Given the description of an element on the screen output the (x, y) to click on. 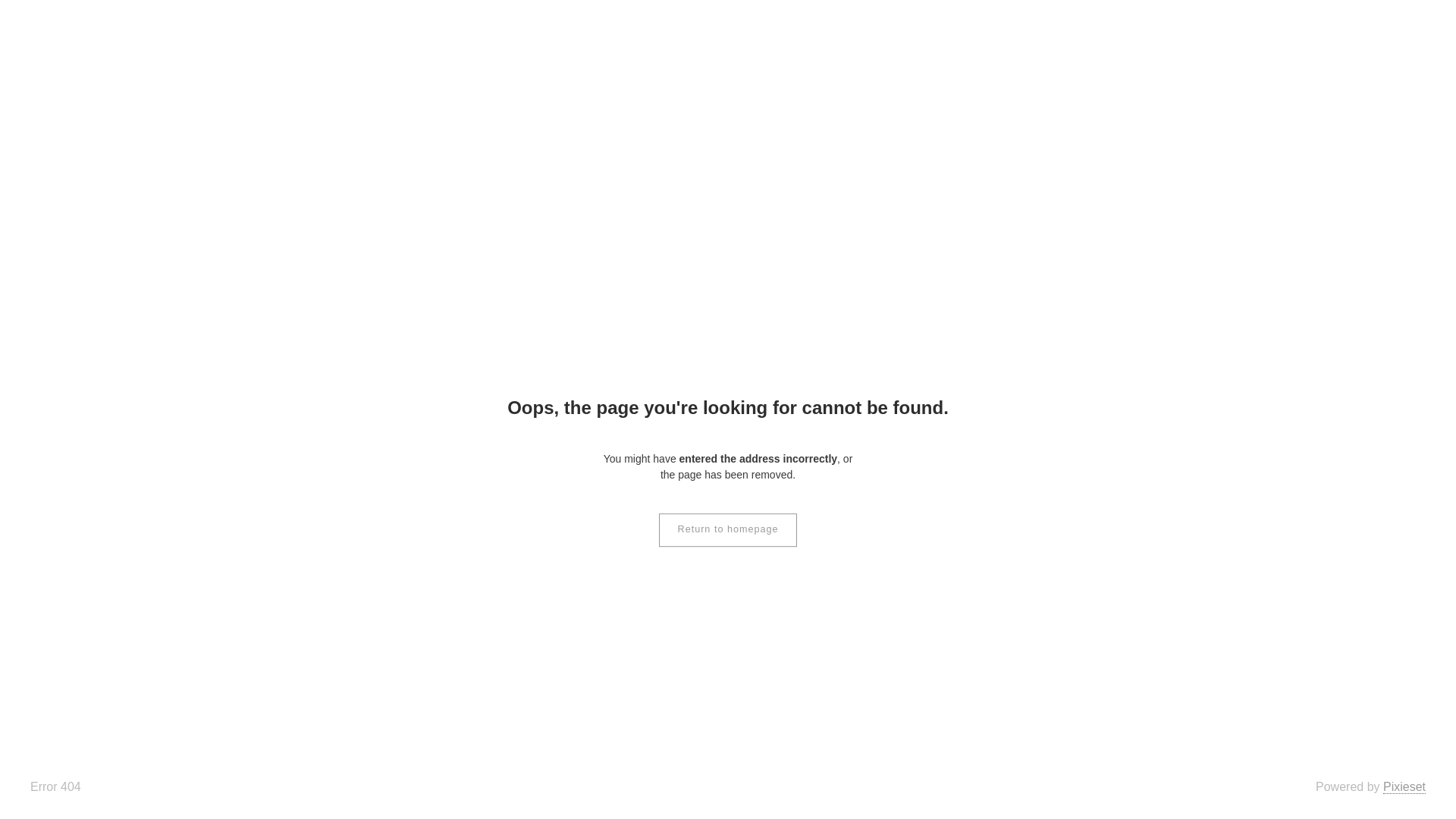
Return to homepage Element type: text (727, 529)
Pixieset Element type: text (1404, 786)
